Given the description of an element on the screen output the (x, y) to click on. 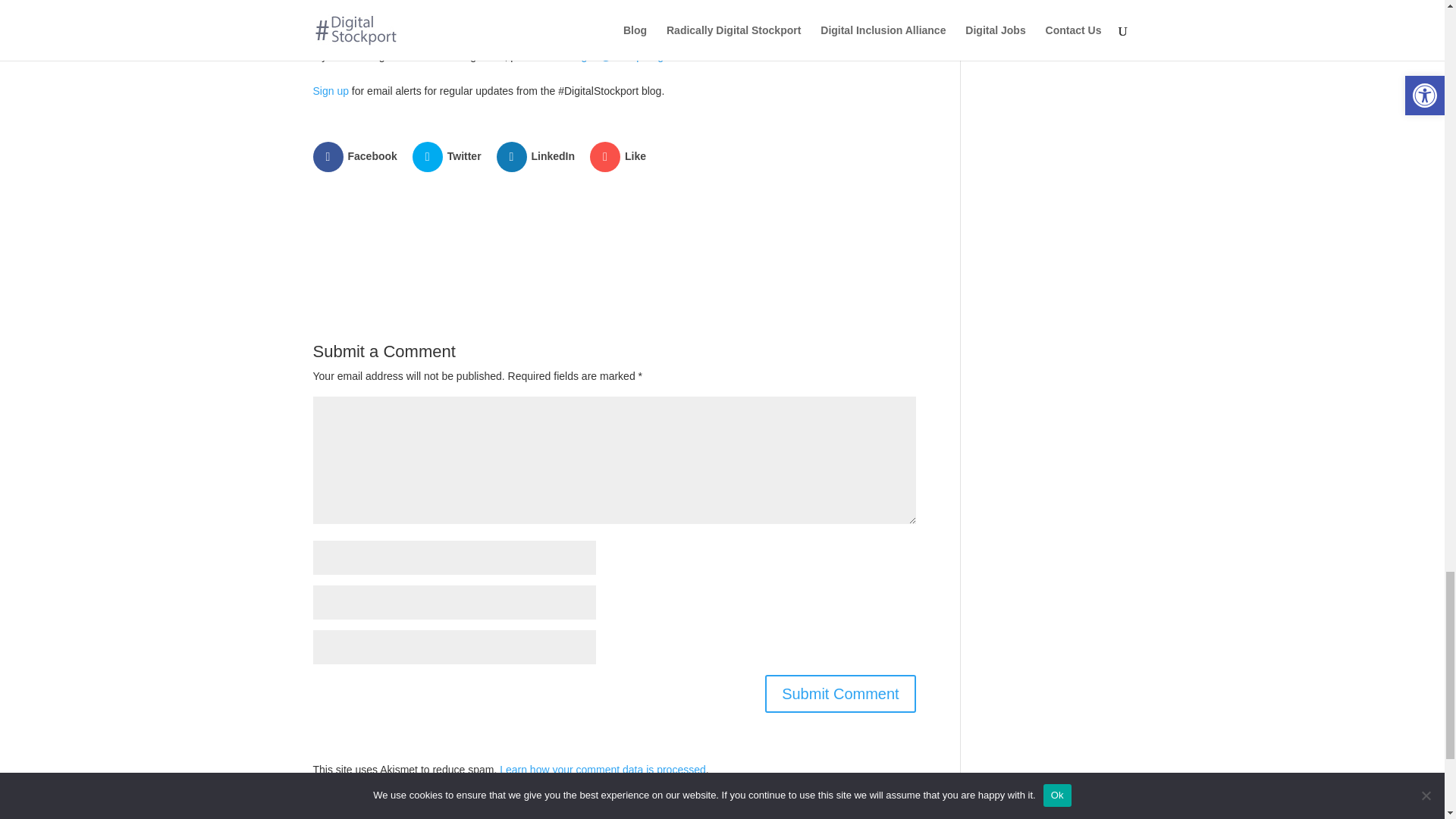
online referral form (786, 28)
Twitter (448, 156)
Submit Comment (840, 693)
Sign up (330, 91)
LinkedIn (537, 156)
Submit Comment (840, 693)
Like (619, 156)
Facebook (355, 156)
0161 474 1042 (517, 28)
